Given the description of an element on the screen output the (x, y) to click on. 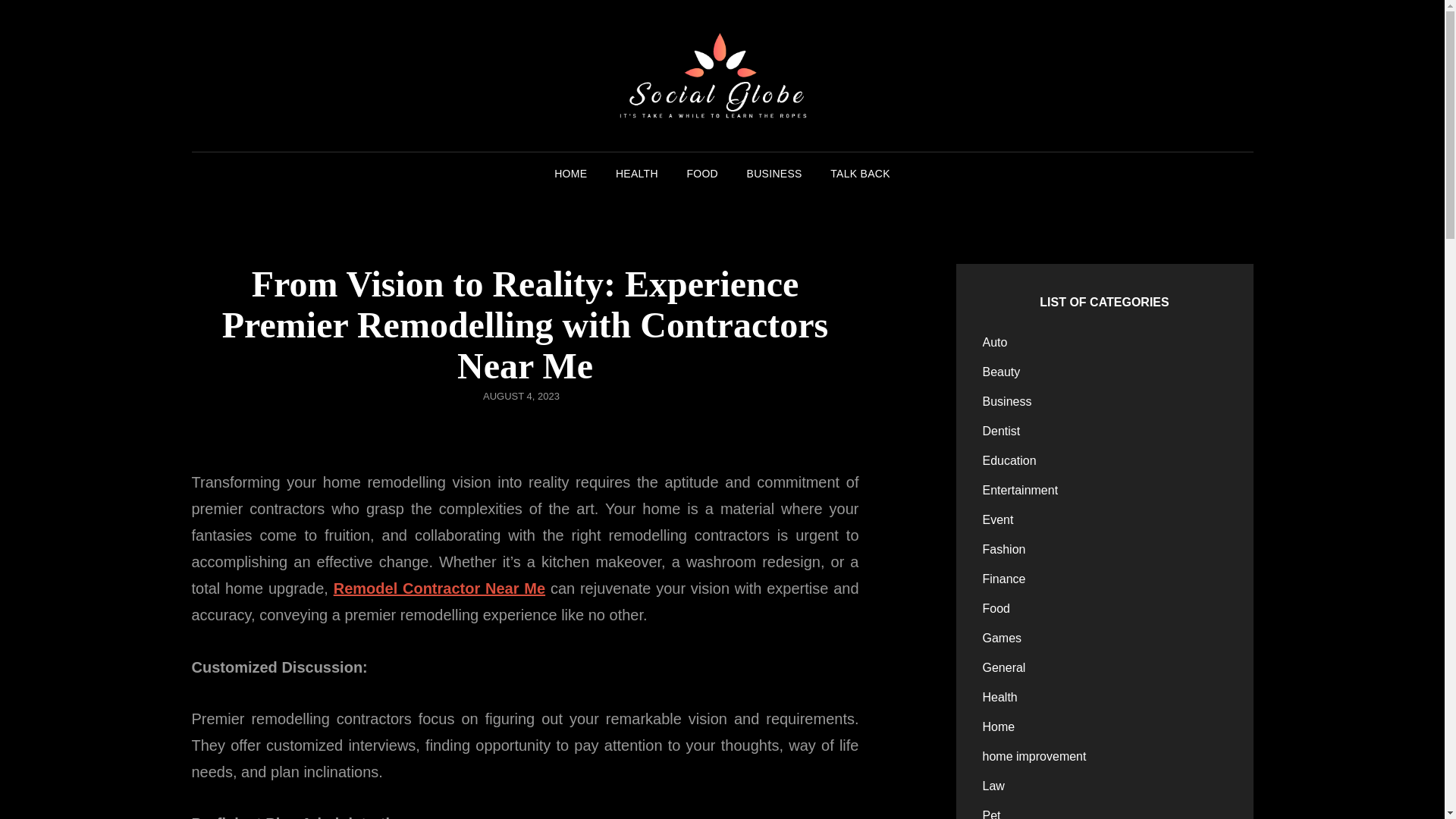
AUGUST 4, 2023 (521, 396)
Entertainment (1020, 490)
Remodel Contractor Near Me (438, 588)
Home (998, 726)
Health (999, 697)
General (1004, 668)
SOCIAL GLOBE (990, 97)
HOME (569, 173)
Business (1007, 401)
Law (993, 785)
HEALTH (636, 173)
Dentist (1001, 431)
Finance (1004, 579)
TALK BACK (860, 173)
Education (1009, 460)
